Given the description of an element on the screen output the (x, y) to click on. 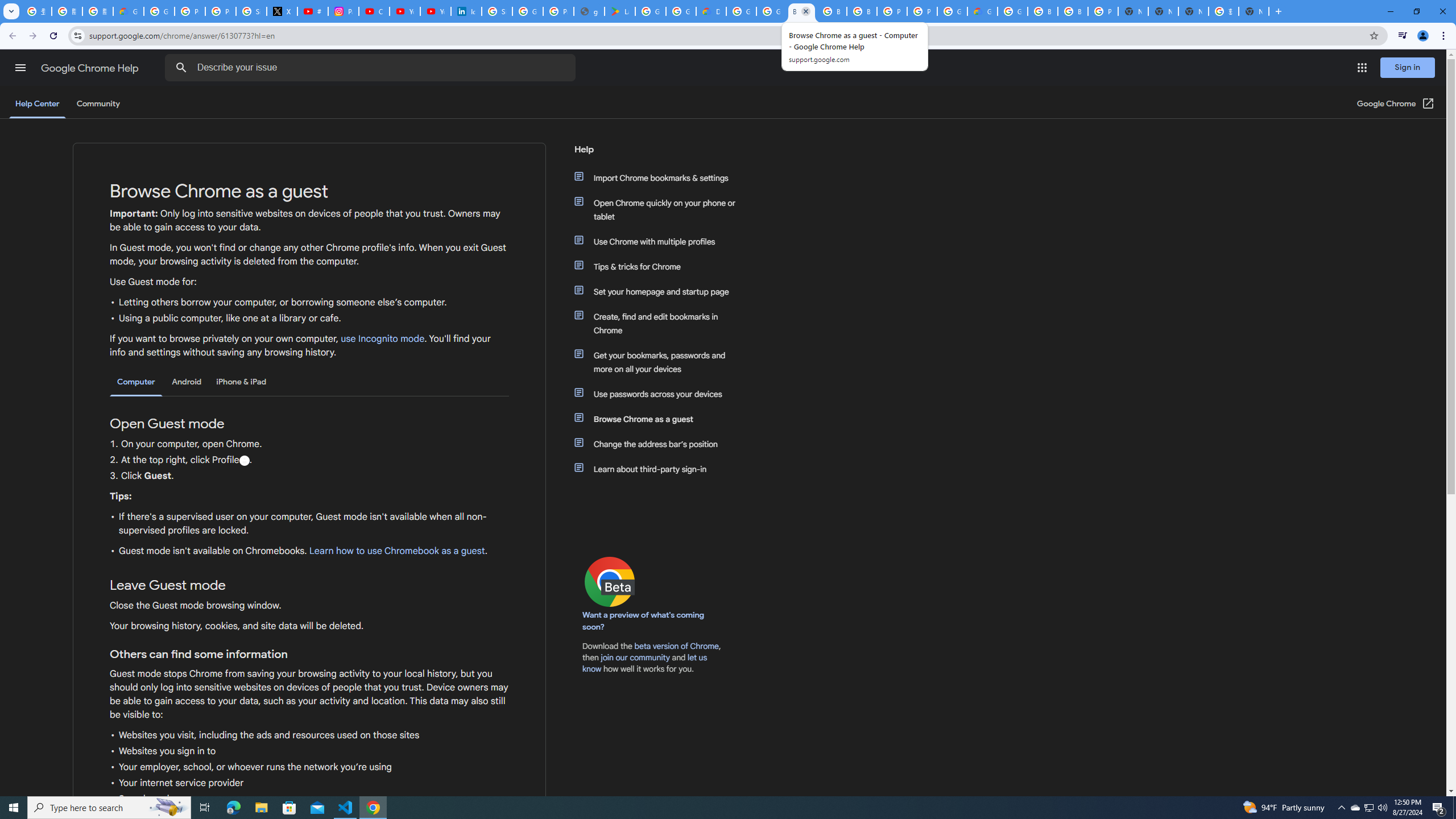
Browse Chrome as a guest - Computer - Google Chrome Help (1042, 11)
X (282, 11)
Google Workspace - Specific Terms (681, 11)
let us know (644, 663)
Community (97, 103)
Get your bookmarks, passwords and more on all your devices (661, 362)
